Given the description of an element on the screen output the (x, y) to click on. 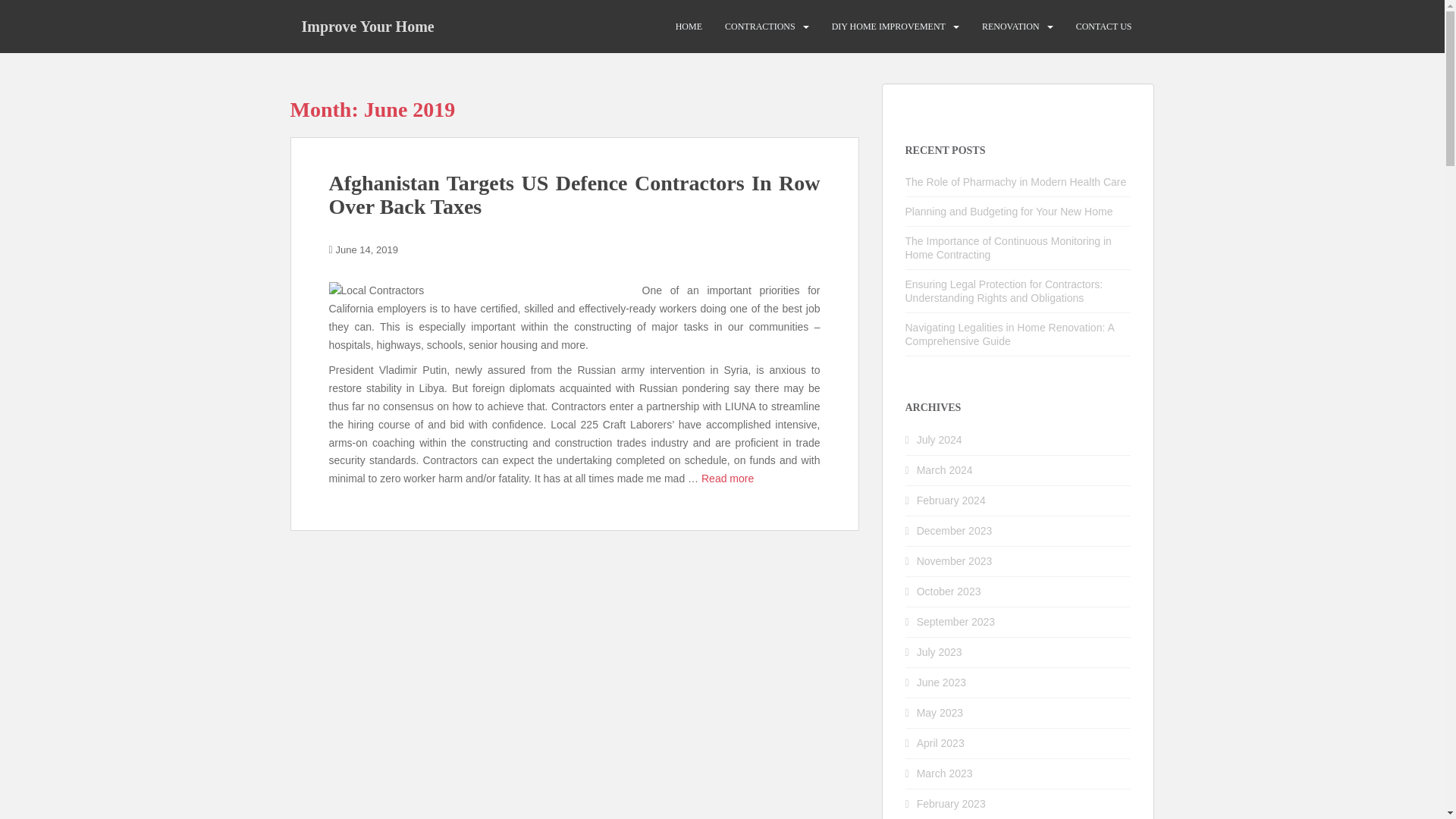
DIY HOME IMPROVEMENT (887, 26)
October 2023 (949, 591)
July 2024 (939, 439)
March 2024 (944, 469)
CONTRACTIONS (759, 26)
July 2023 (939, 652)
December 2023 (954, 530)
